Given the description of an element on the screen output the (x, y) to click on. 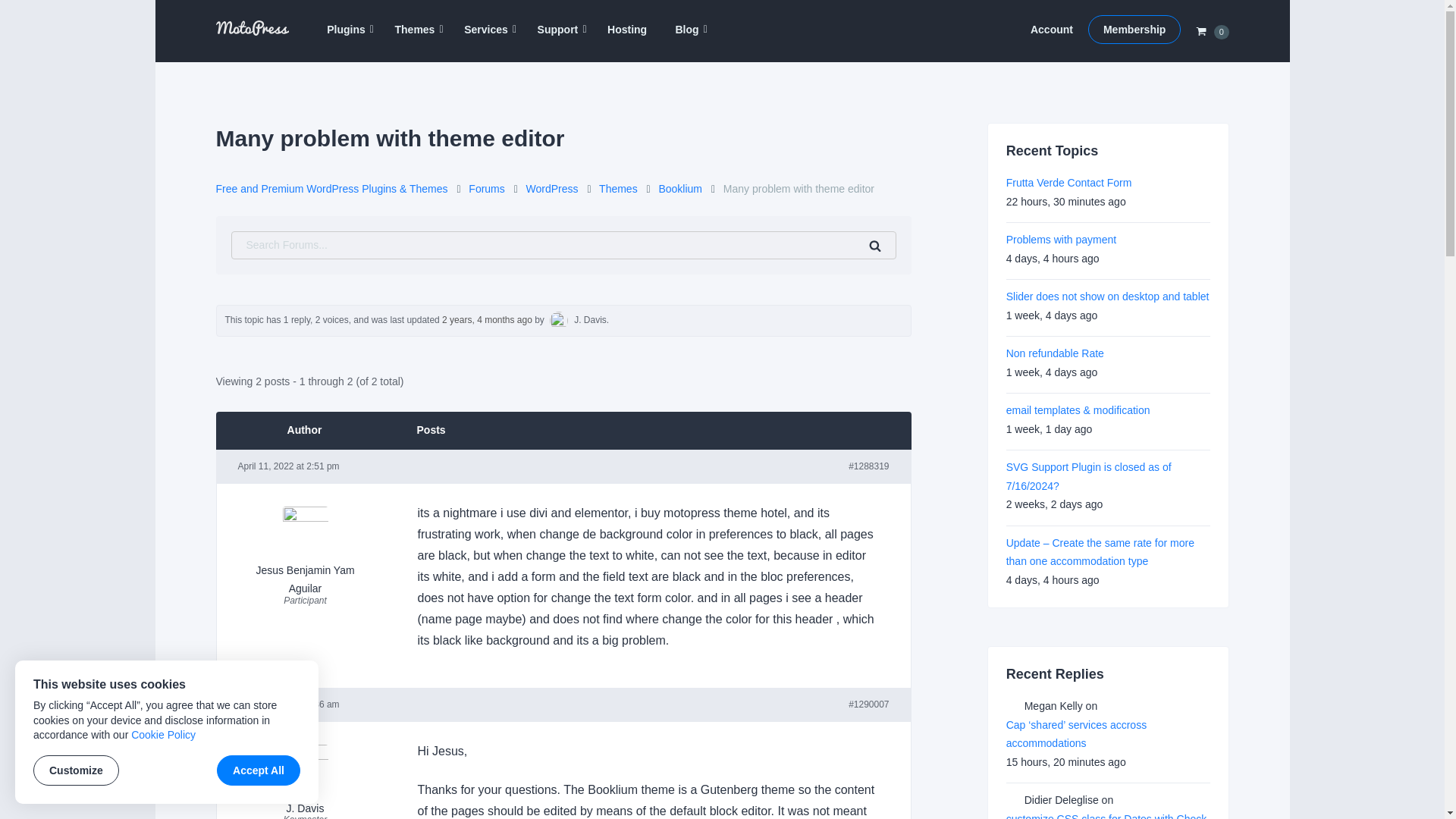
MotoPress (244, 51)
Themes (414, 29)
Plugins (346, 29)
WordPress Plugins (346, 29)
WordPress Themes (414, 29)
Reply To: Many problem with theme editor (487, 319)
